Given the description of an element on the screen output the (x, y) to click on. 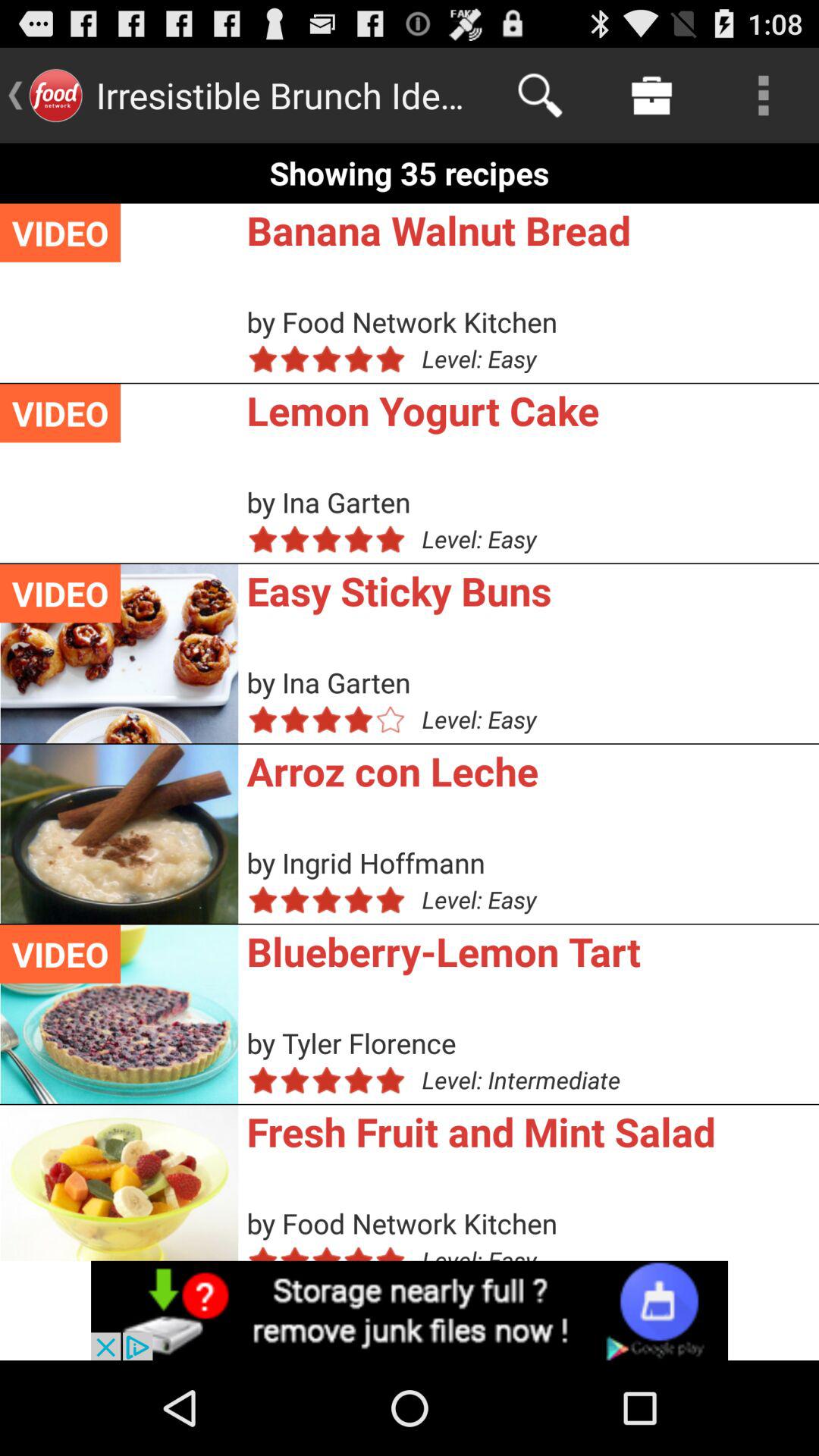
go to advertisements button (409, 1310)
